Given the description of an element on the screen output the (x, y) to click on. 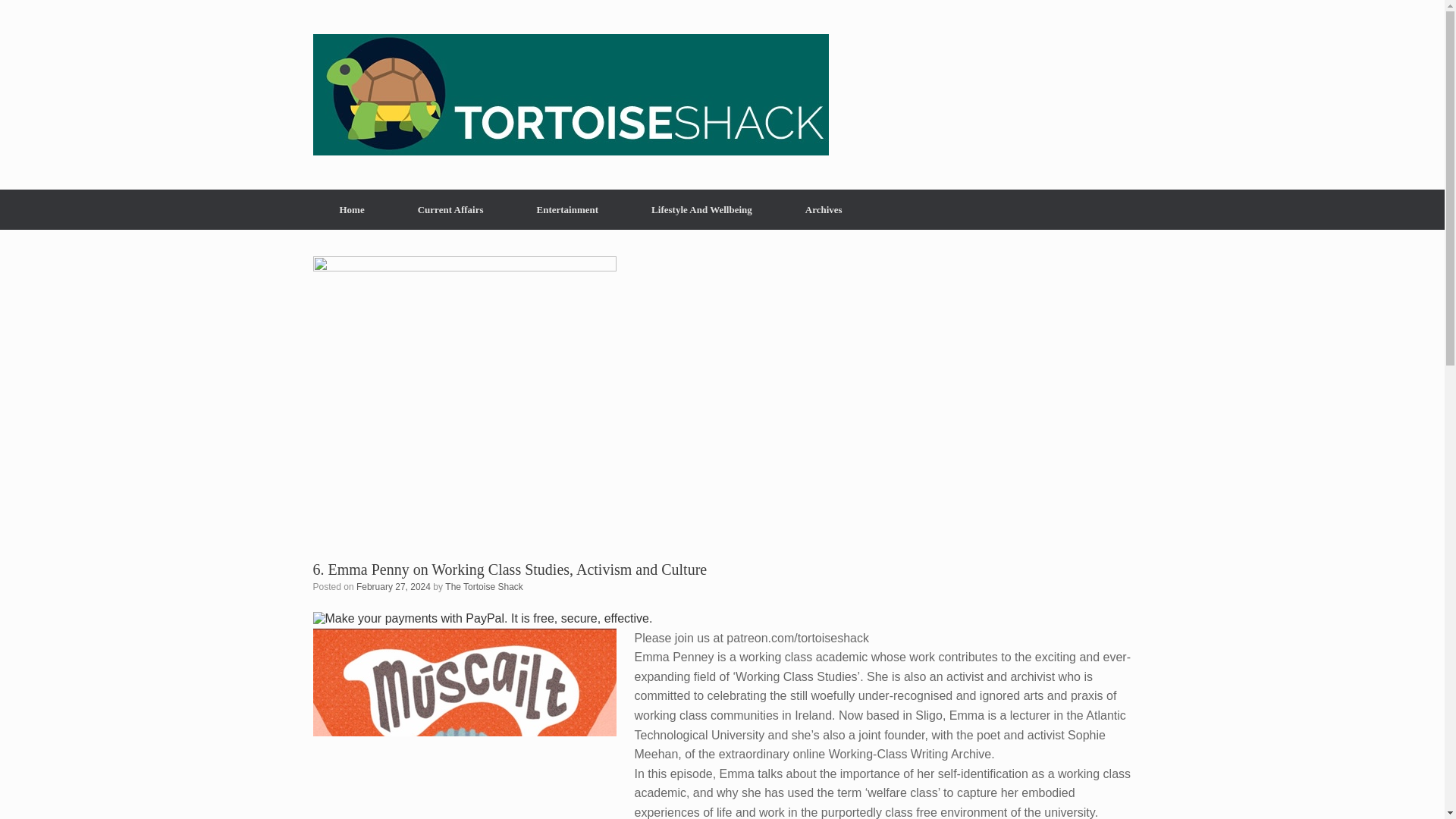
Entertainment (566, 209)
3:08 pm (393, 586)
Archives (823, 209)
Lifestyle And Wellbeing (701, 209)
Current Affairs (451, 209)
February 27, 2024 (393, 586)
Tortoise Shack (570, 94)
View all posts by The Tortoise Shack (483, 586)
Home (351, 209)
The Tortoise Shack (483, 586)
